Given the description of an element on the screen output the (x, y) to click on. 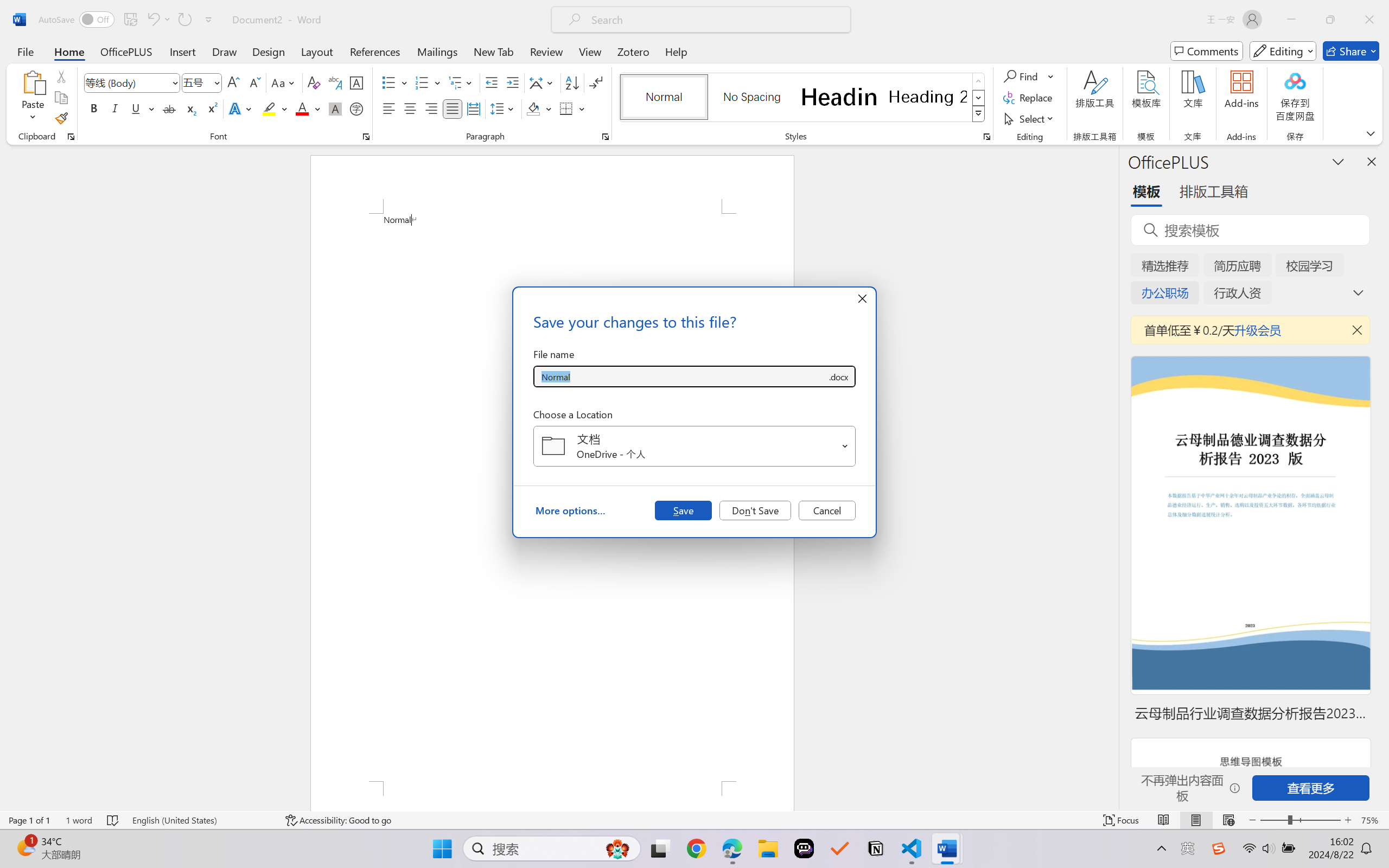
Find (1029, 75)
Align Left (388, 108)
Choose a Location (694, 446)
Font Size (201, 82)
Text Highlight Color Yellow (269, 108)
Increase Indent (512, 82)
Undo Apply Quick Style (152, 19)
Quick Access Toolbar (127, 19)
